Given the description of an element on the screen output the (x, y) to click on. 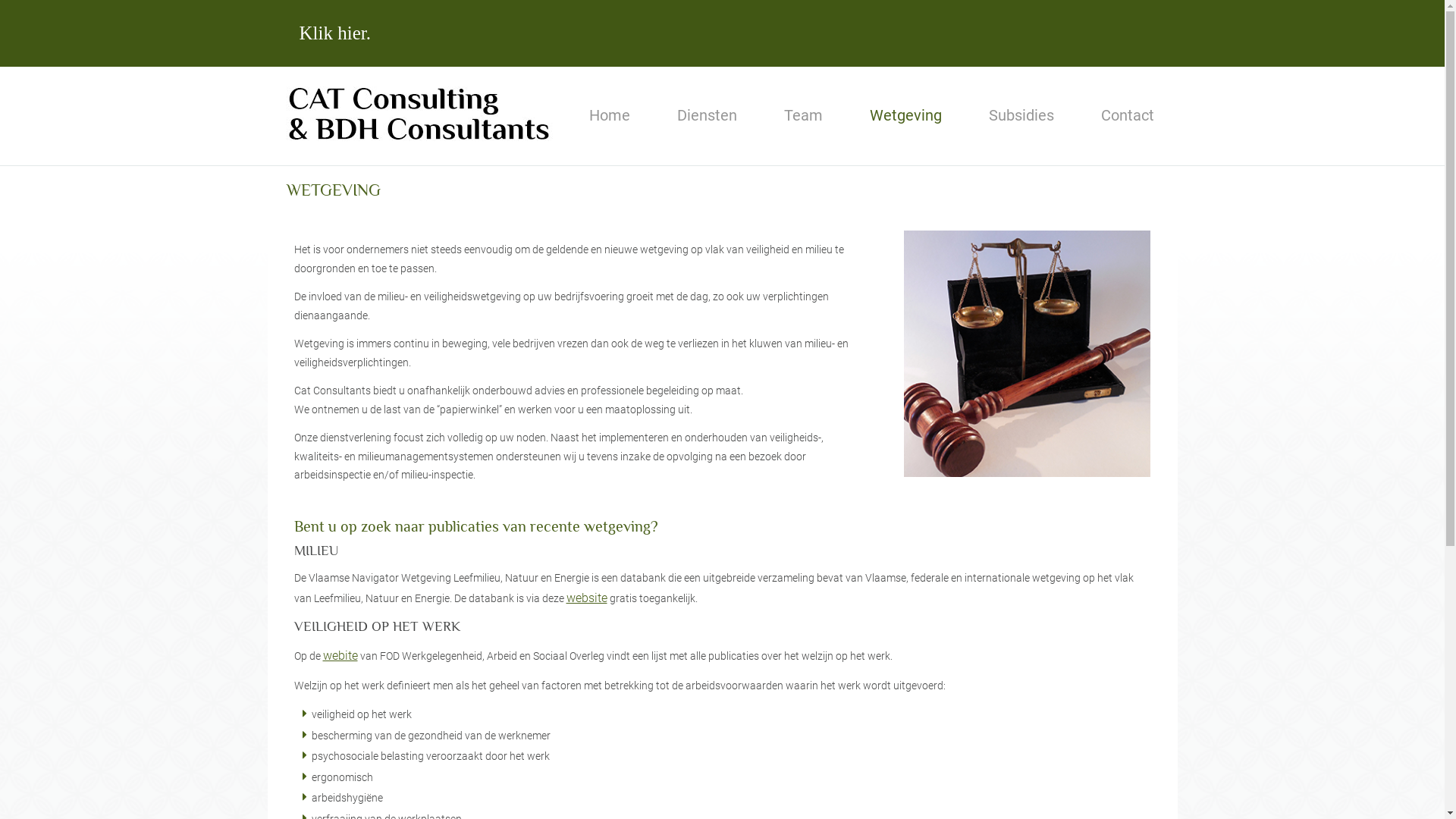
webite Element type: text (340, 655)
Subsidies Element type: text (1020, 115)
Wetgeving Element type: text (905, 115)
Klik hier. Element type: text (334, 32)
website Element type: text (585, 597)
Home Element type: text (609, 115)
Team Element type: text (802, 115)
Diensten Element type: text (706, 115)
Contact Element type: text (1126, 115)
